Given the description of an element on the screen output the (x, y) to click on. 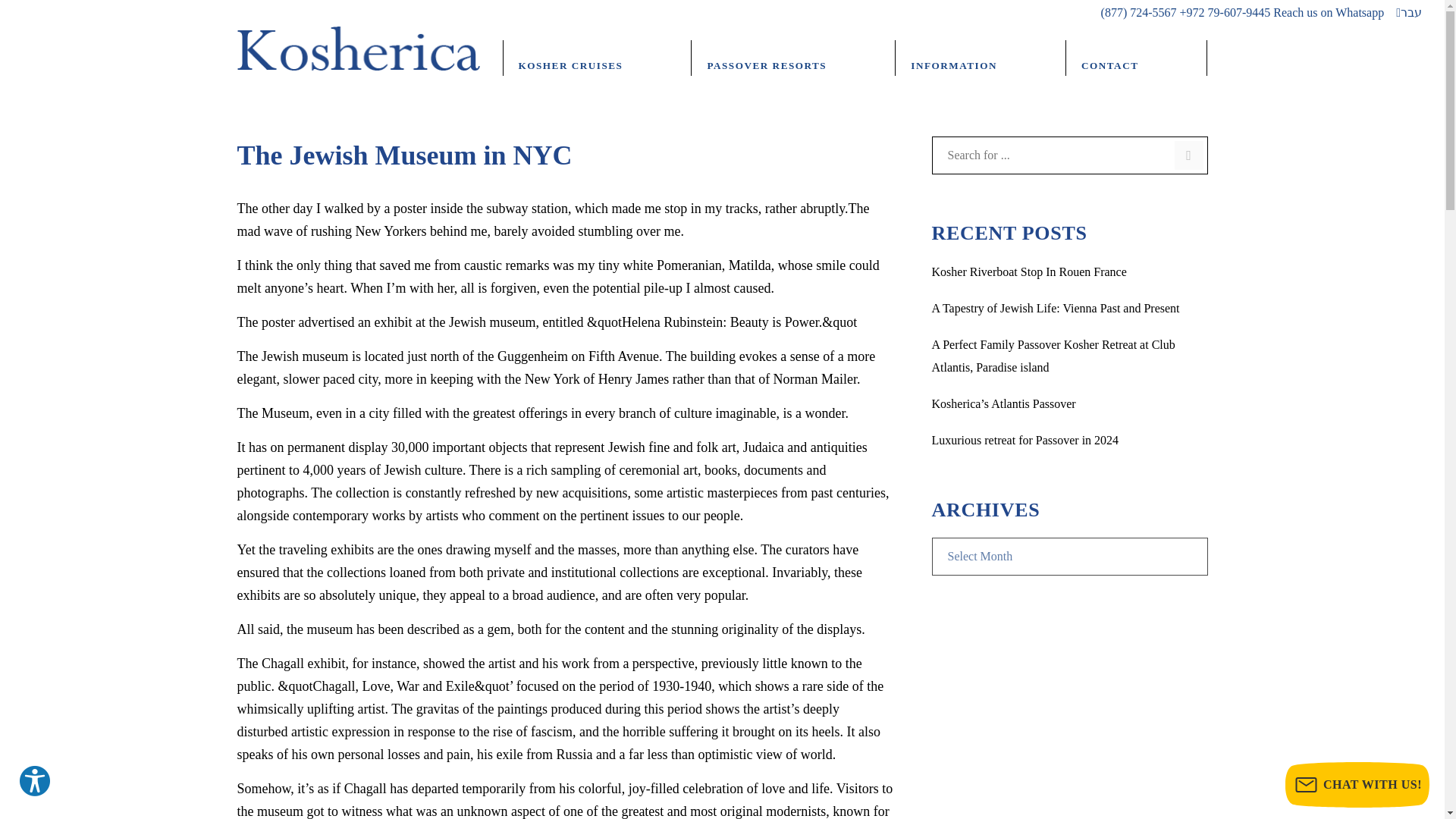
Reach us on Whatsapp (1328, 11)
KOSHER CRUISES (597, 59)
INFORMATION (980, 59)
PASSOVER RESORTS (793, 59)
